Given the description of an element on the screen output the (x, y) to click on. 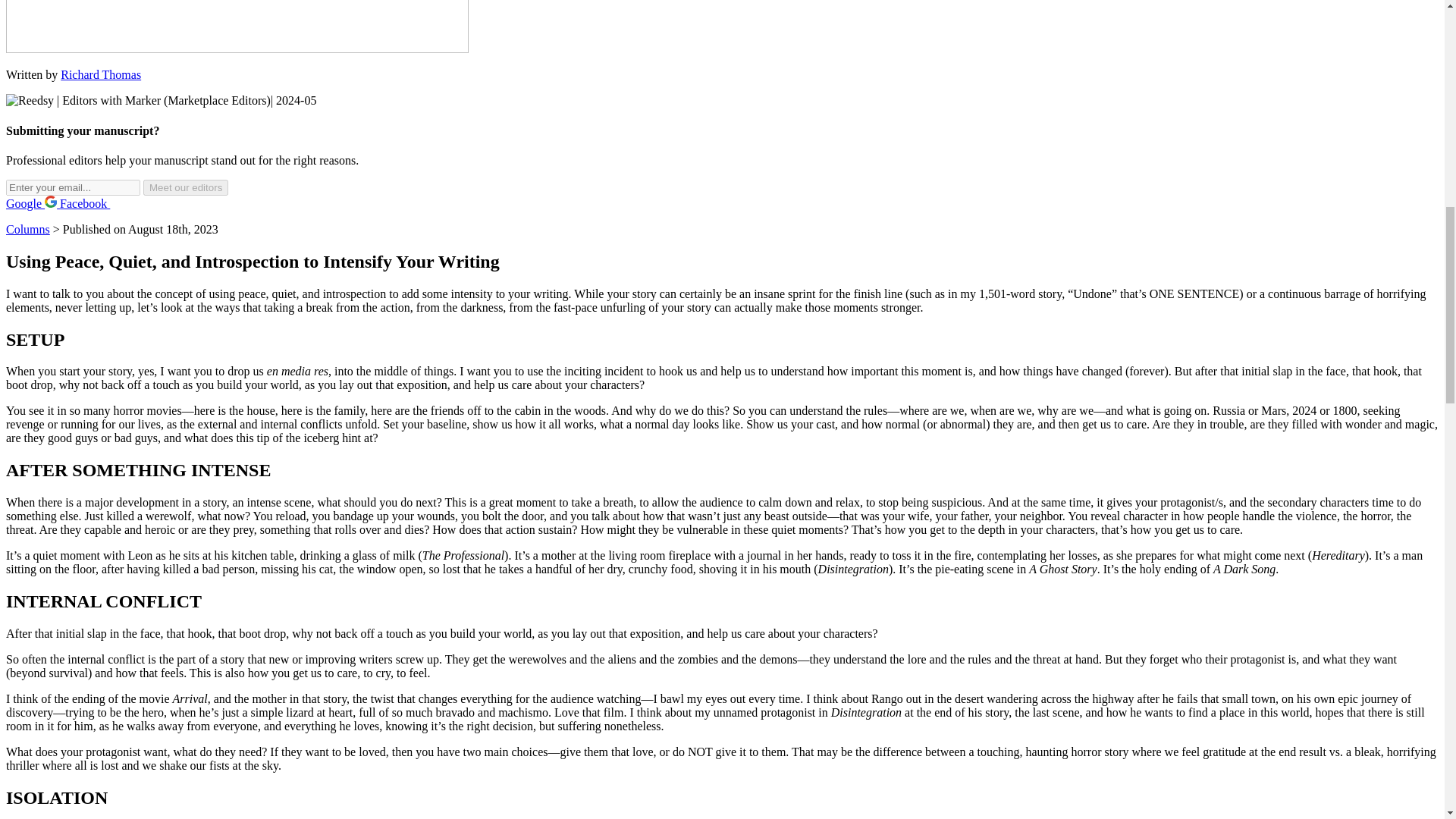
Facebook (90, 203)
Meet our editors (185, 187)
Google (32, 203)
Sign in with Facebook (90, 203)
Columns (27, 228)
Sign in with Google (32, 203)
Meet our editors (185, 187)
Richard Thomas (101, 74)
